Given the description of an element on the screen output the (x, y) to click on. 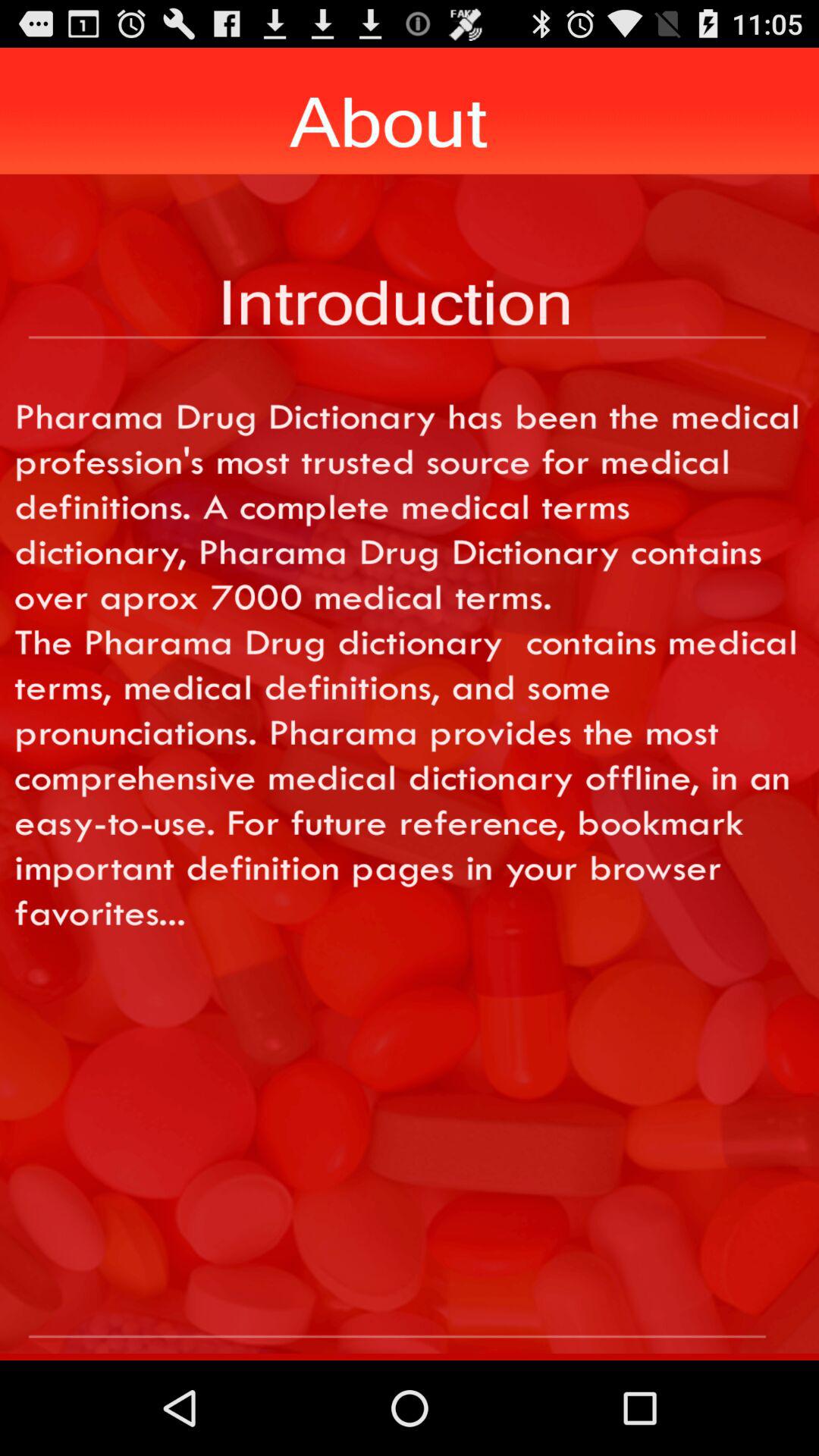
about option (409, 1310)
